Given the description of an element on the screen output the (x, y) to click on. 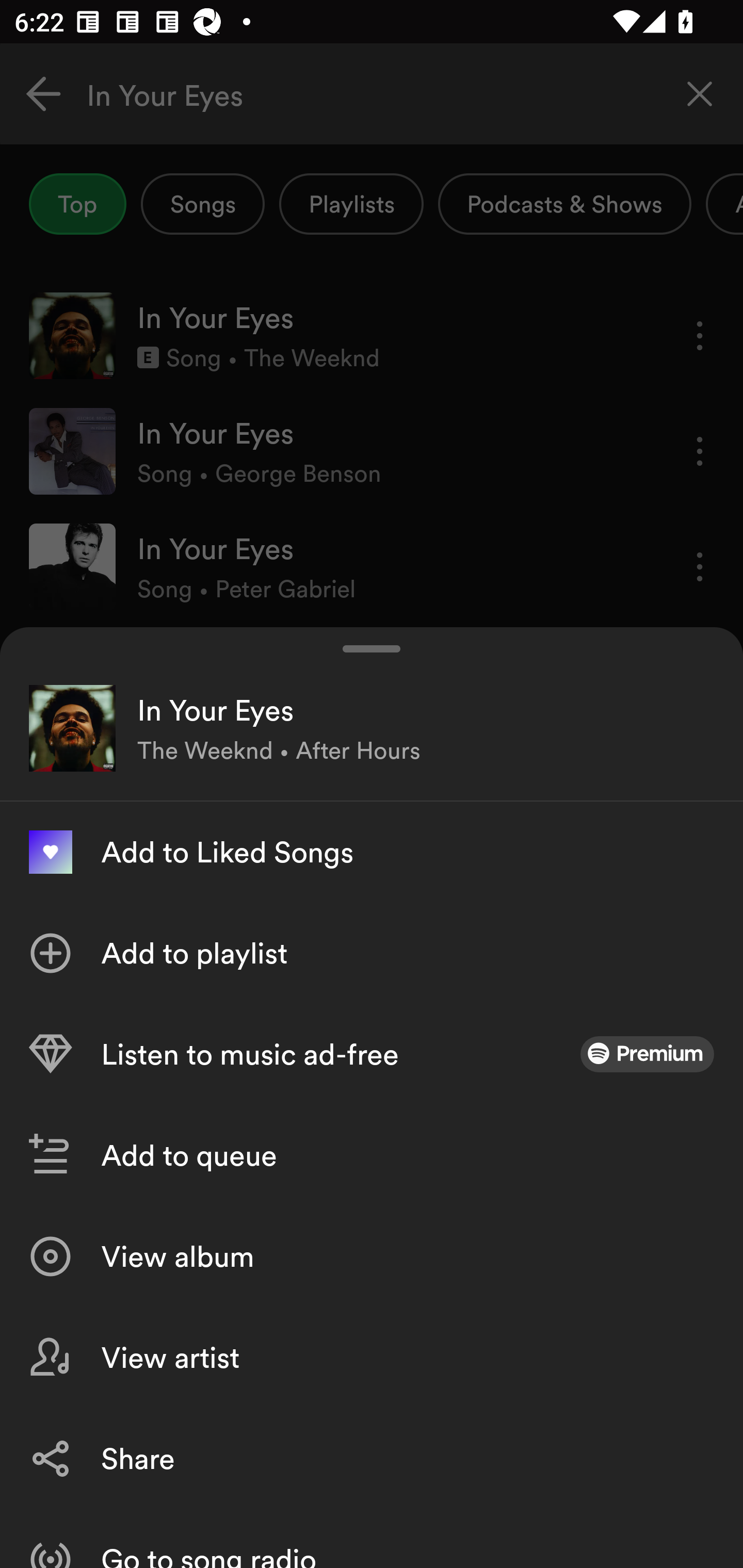
Add to Liked Songs (371, 852)
Add to playlist (371, 953)
Listen to music ad-free (371, 1054)
Add to queue (371, 1155)
View album (371, 1256)
View artist (371, 1357)
Share (371, 1458)
Go to song radio (371, 1538)
